Given the description of an element on the screen output the (x, y) to click on. 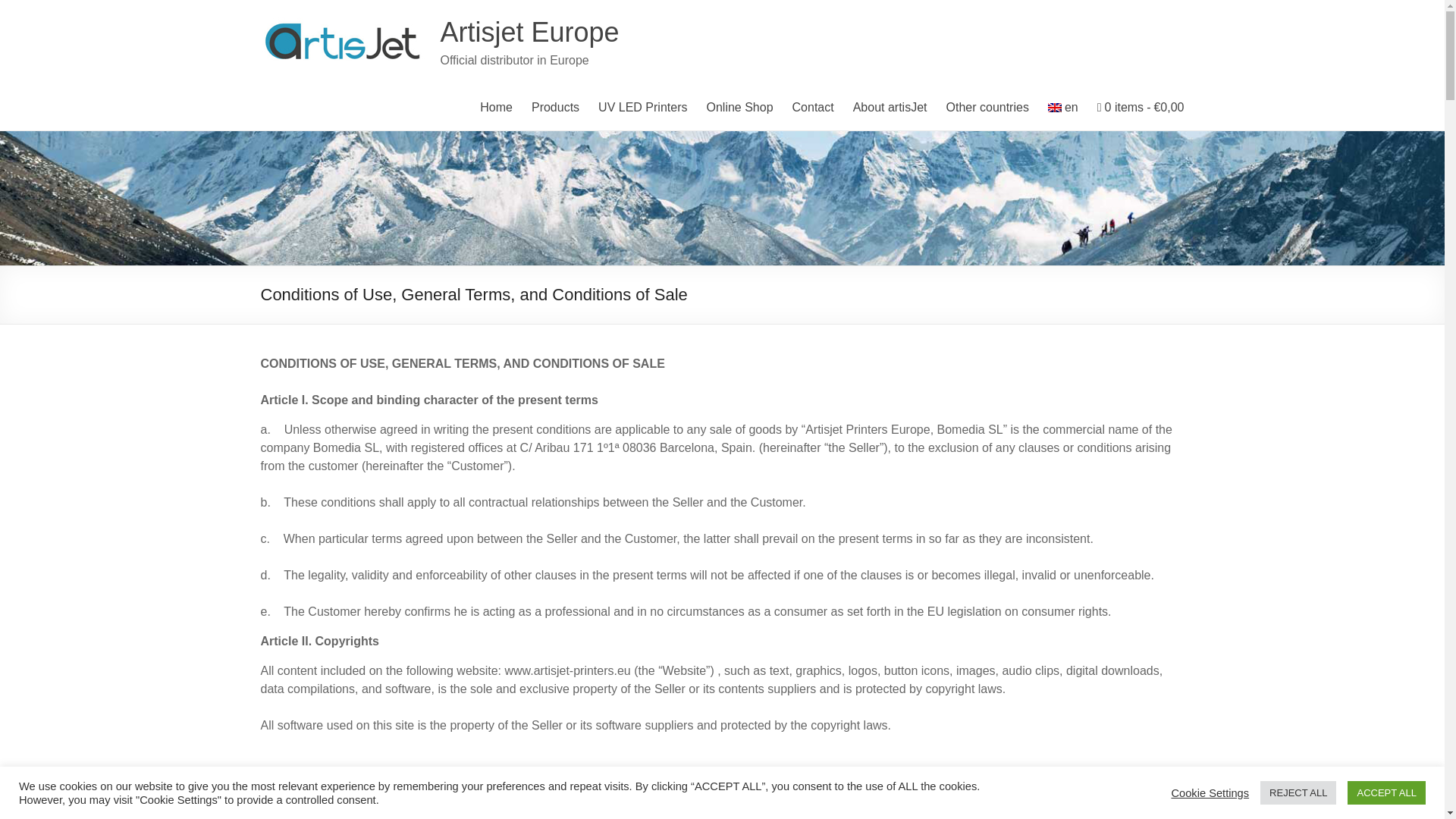
About artisJet (890, 107)
en (1063, 107)
Start shopping (1141, 107)
UV LED Printers (642, 107)
Artisjet Europe (528, 31)
Online Shop (739, 107)
Products (555, 107)
Contact (813, 107)
Home (496, 107)
Other countries (987, 107)
